Given the description of an element on the screen output the (x, y) to click on. 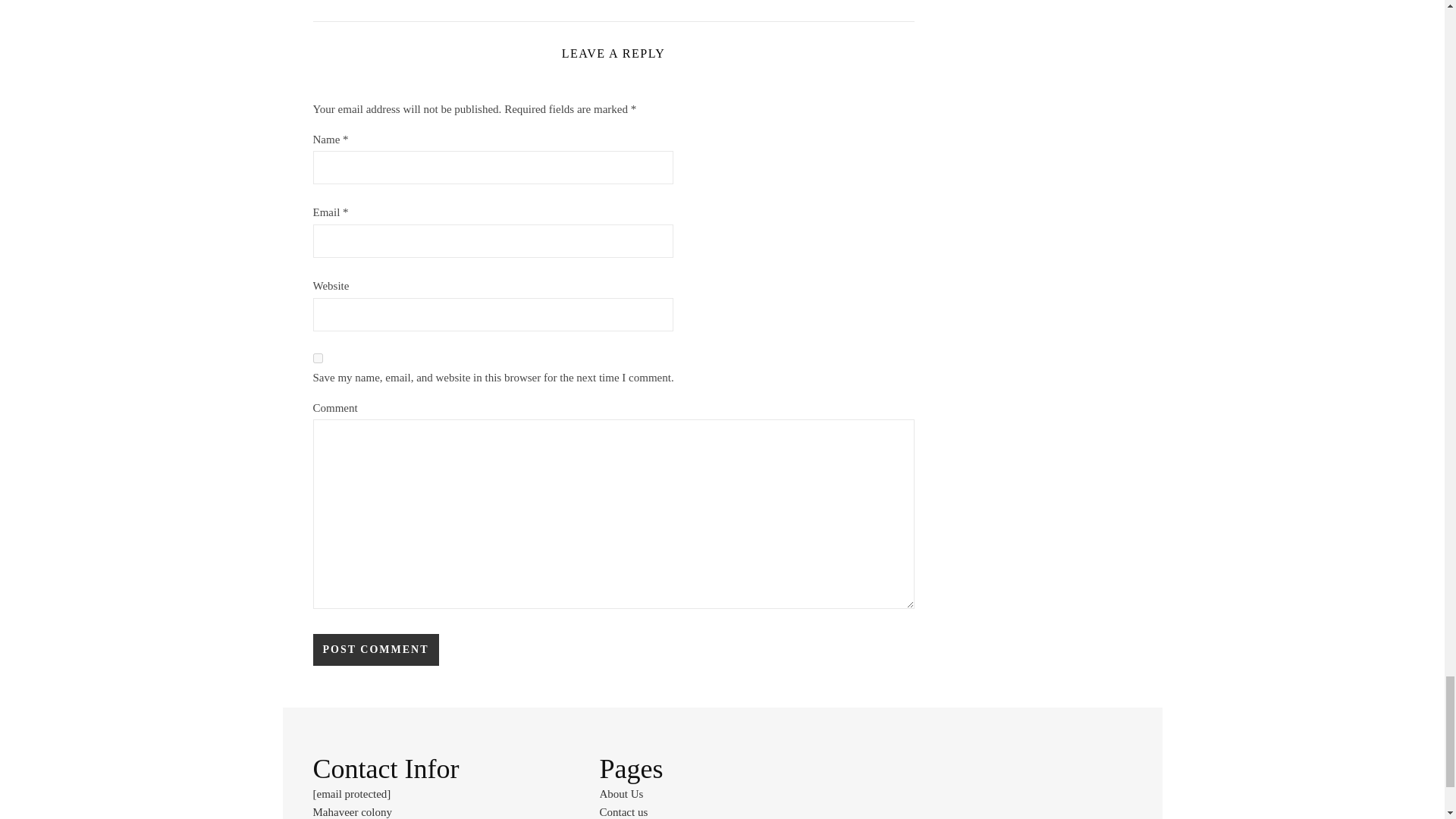
Post Comment (375, 649)
Open address in Google Maps (435, 811)
yes (317, 357)
